Given the description of an element on the screen output the (x, y) to click on. 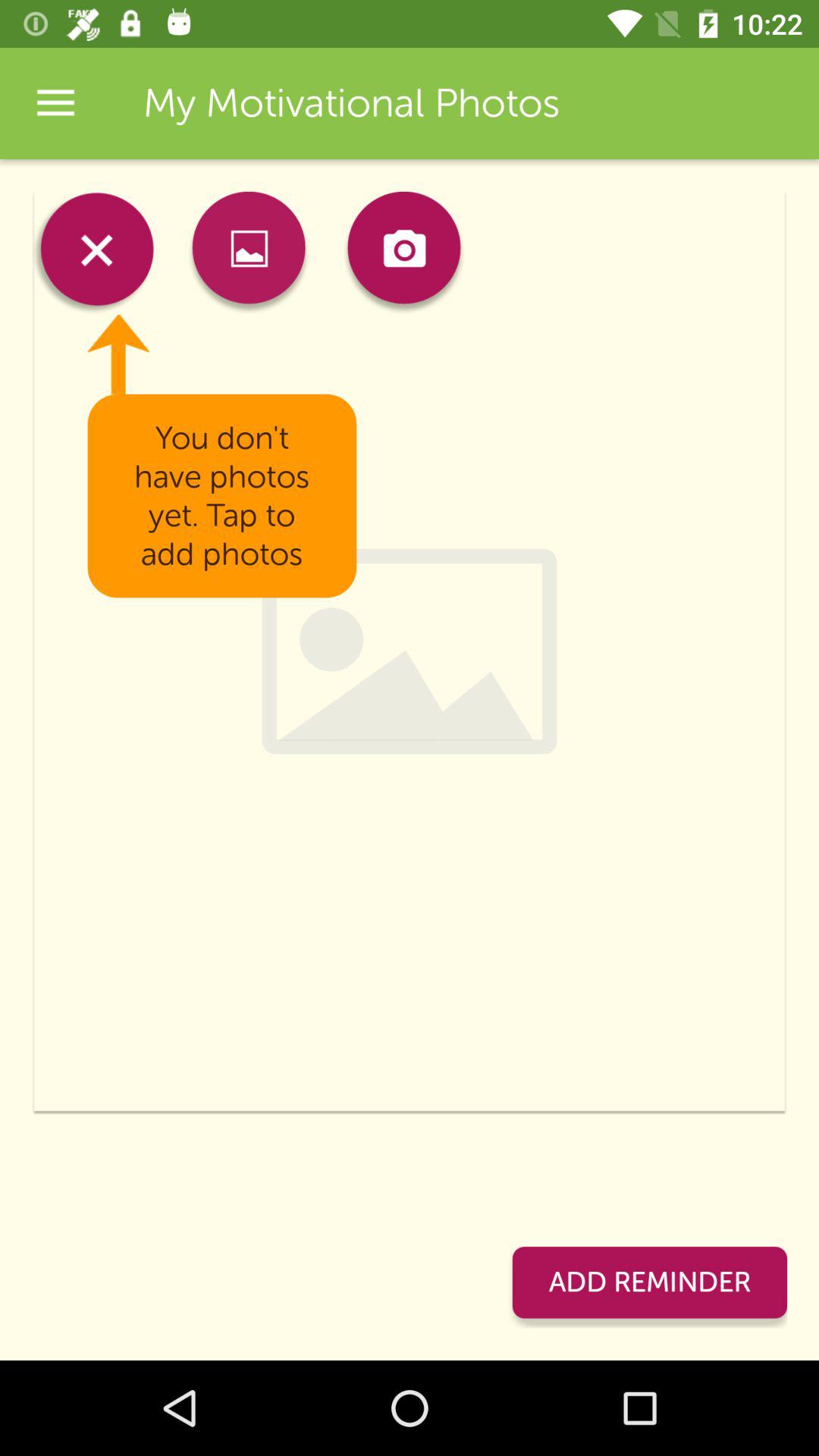
choose the app below my motivational photos (403, 252)
